Given the description of an element on the screen output the (x, y) to click on. 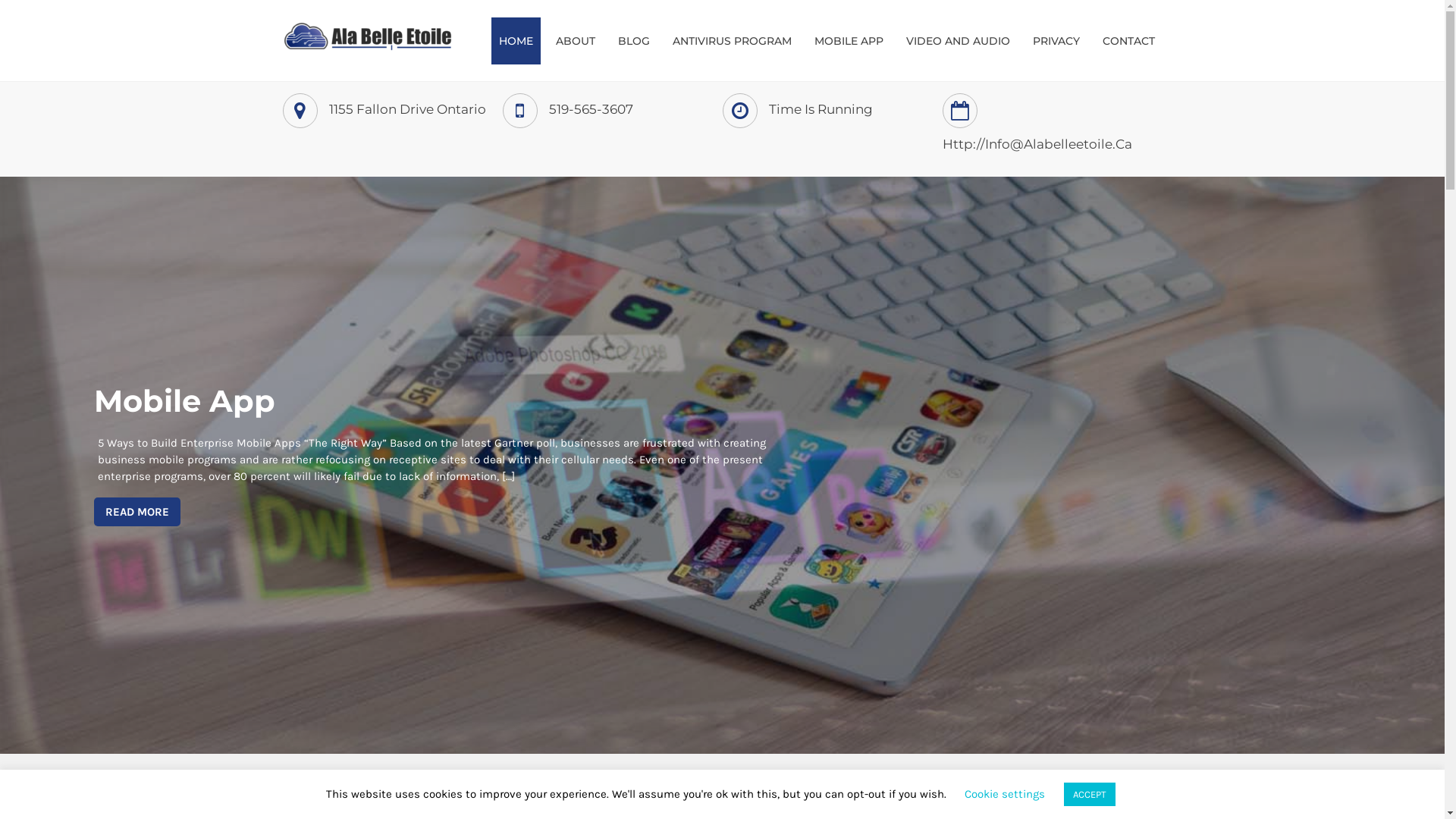
Ala Belle Etoile Element type: text (368, 74)
Search Element type: text (1119, 800)
ACCEPT Element type: text (1088, 794)
BLOG Element type: text (632, 40)
Cookie settings Element type: text (1004, 793)
READ MORE Element type: text (137, 511)
CONTACT Element type: text (1128, 40)
MOBILE APP Element type: text (848, 40)
HOME Element type: text (515, 40)
ABOUT Element type: text (574, 40)
Http://Info@Alabelleetoile.Ca Element type: text (1036, 143)
ANTIVIRUS PROGRAM Element type: text (731, 40)
PRIVACY Element type: text (1056, 40)
VIDEO AND AUDIO Element type: text (956, 40)
